Given the description of an element on the screen output the (x, y) to click on. 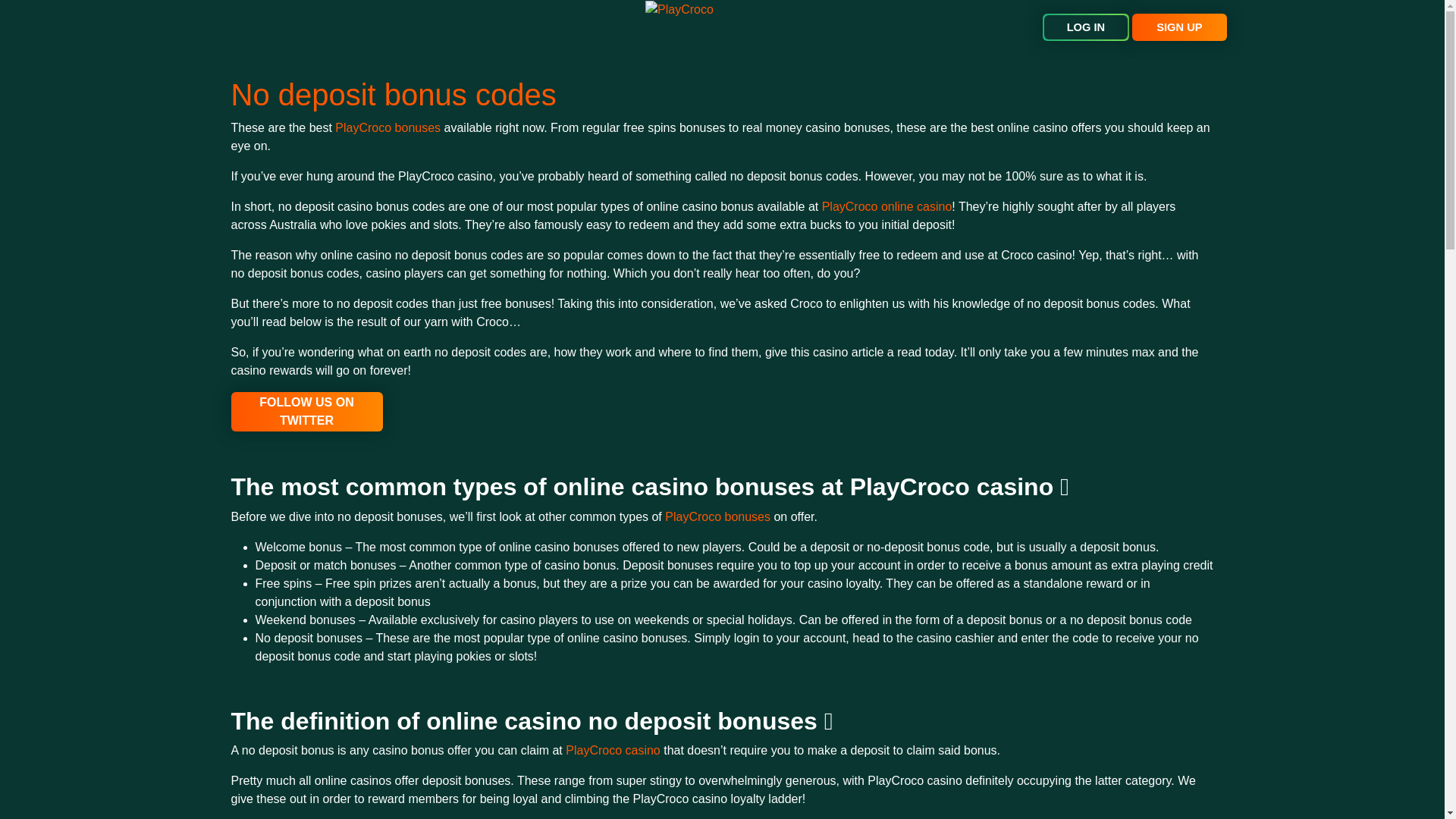
playcroco casino twitter (305, 411)
PlayCroco (679, 9)
PlayCroco bonuses (387, 127)
LOG IN (1085, 26)
PlayCroco bonuses (387, 127)
PlayCroco bonuses (717, 516)
PlayCroco online casino (887, 205)
FOLLOW US ON TWITTER (305, 411)
PlayCroco bonuses (717, 516)
No deposit bonus codes (393, 94)
SIGN UP (1178, 26)
PlayCroco casino (613, 749)
PlayCroco online casino twitter (887, 205)
PlayCroco casino (613, 749)
